Given the description of an element on the screen output the (x, y) to click on. 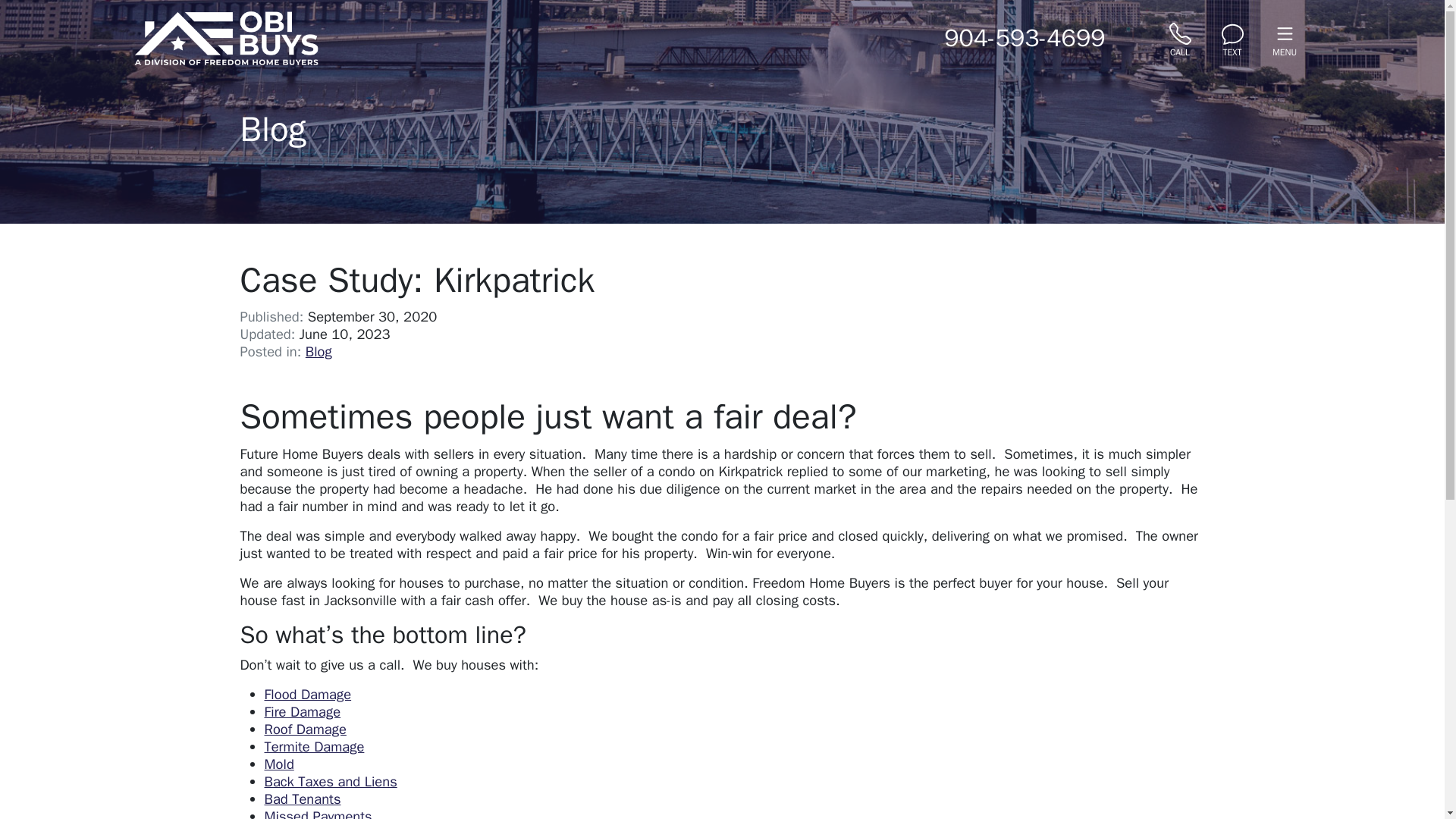
Blog (272, 129)
MENU (1285, 37)
TEXT (1231, 37)
904-593-4699 (1023, 38)
CALL (1180, 37)
Blog (318, 351)
Flood Damage (306, 693)
Fire Damage (301, 711)
